Given the description of an element on the screen output the (x, y) to click on. 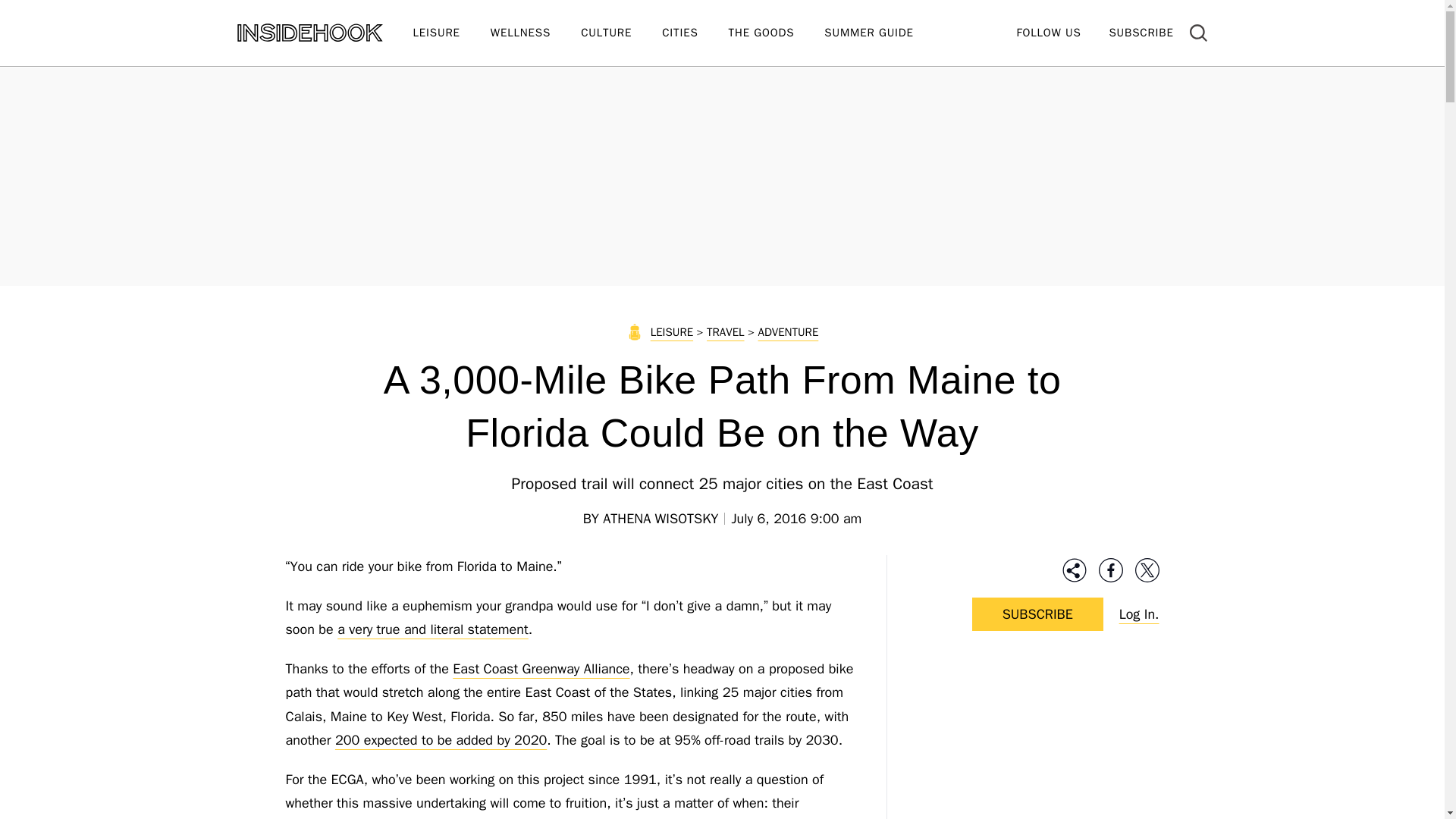
CITIES (695, 32)
SUBSCRIBE (1140, 32)
LEISURE (450, 32)
THE GOODS (777, 32)
CULTURE (621, 32)
WELLNESS (535, 32)
FOLLOW US (1048, 32)
SUMMER GUIDE (883, 32)
